Given the description of an element on the screen output the (x, y) to click on. 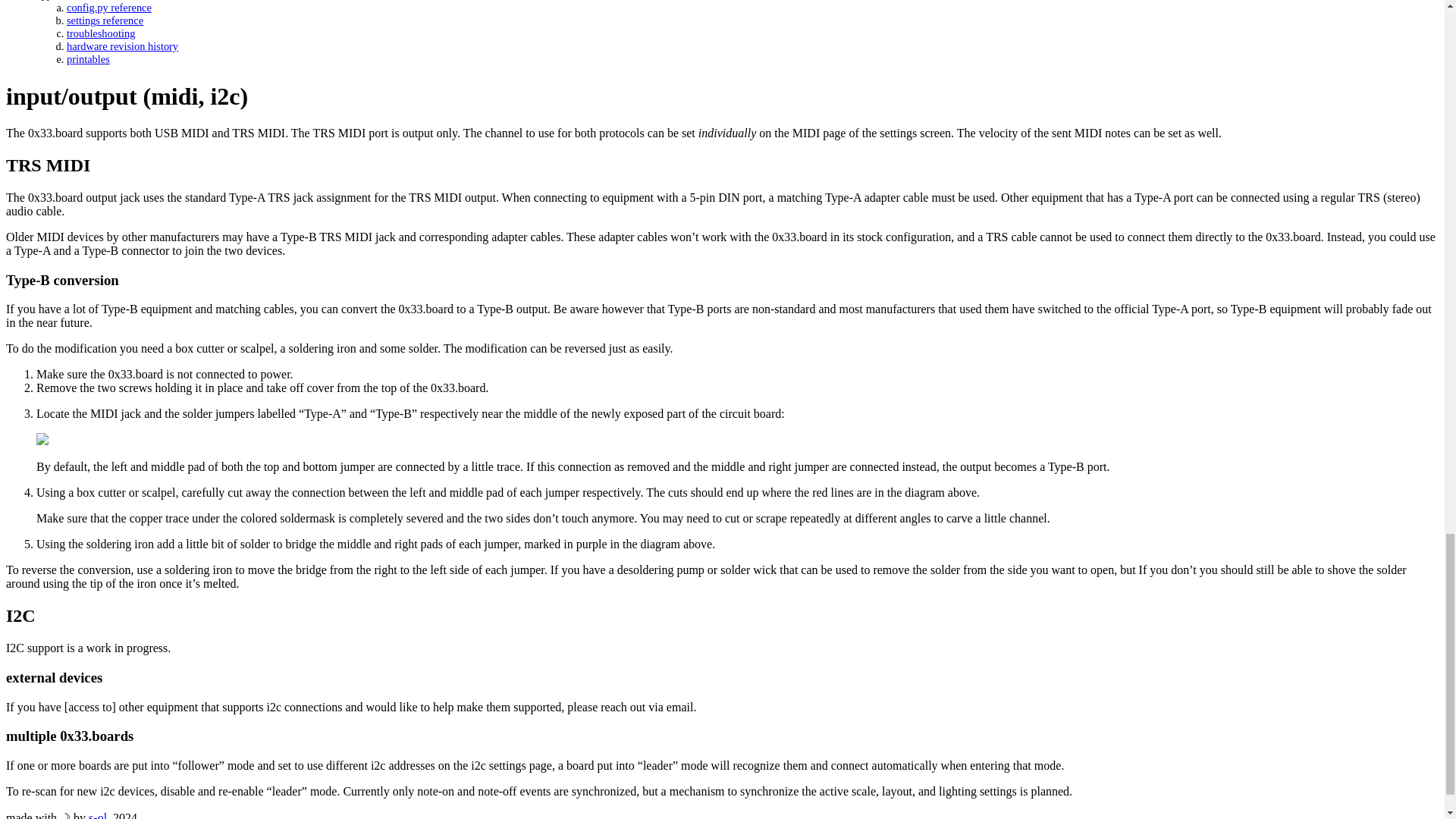
printables (88, 59)
s-ol (97, 815)
settings reference (104, 20)
config.py reference (108, 7)
hardware revision history (121, 46)
troubleshooting (100, 33)
